Given the description of an element on the screen output the (x, y) to click on. 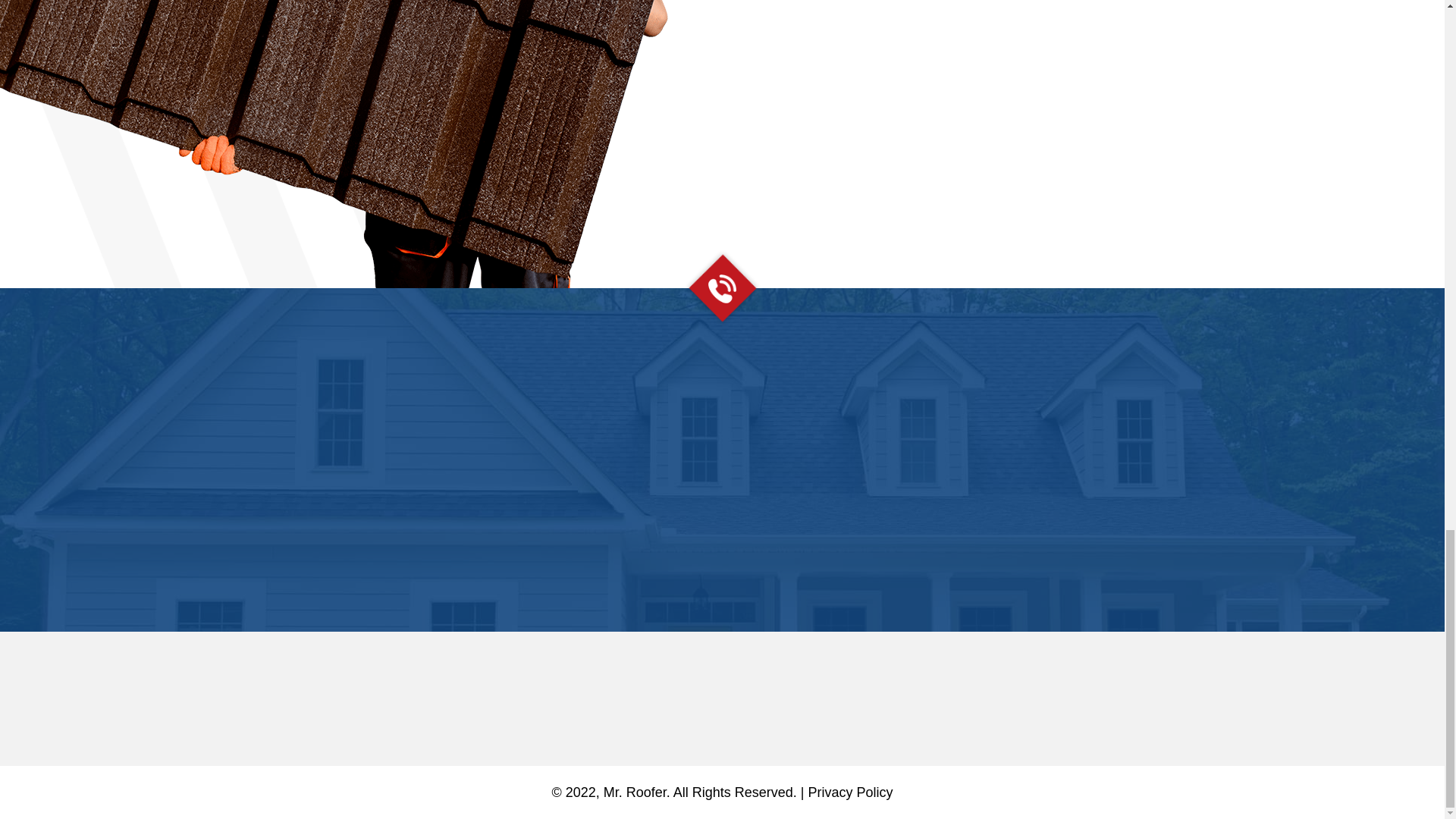
Privacy Policy (850, 792)
GET QUOTE (1068, 126)
